Given the description of an element on the screen output the (x, y) to click on. 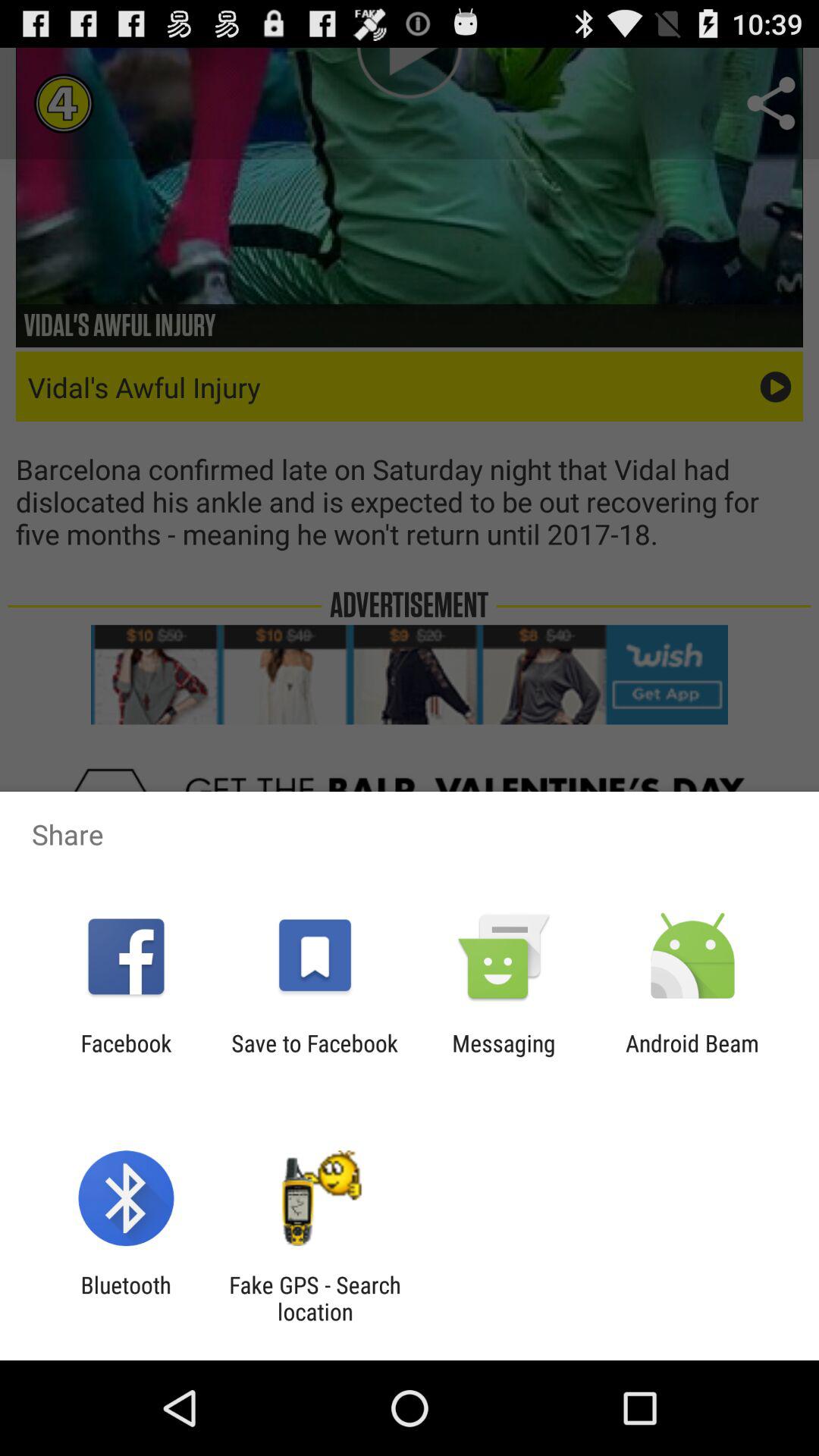
turn off android beam icon (692, 1056)
